Given the description of an element on the screen output the (x, y) to click on. 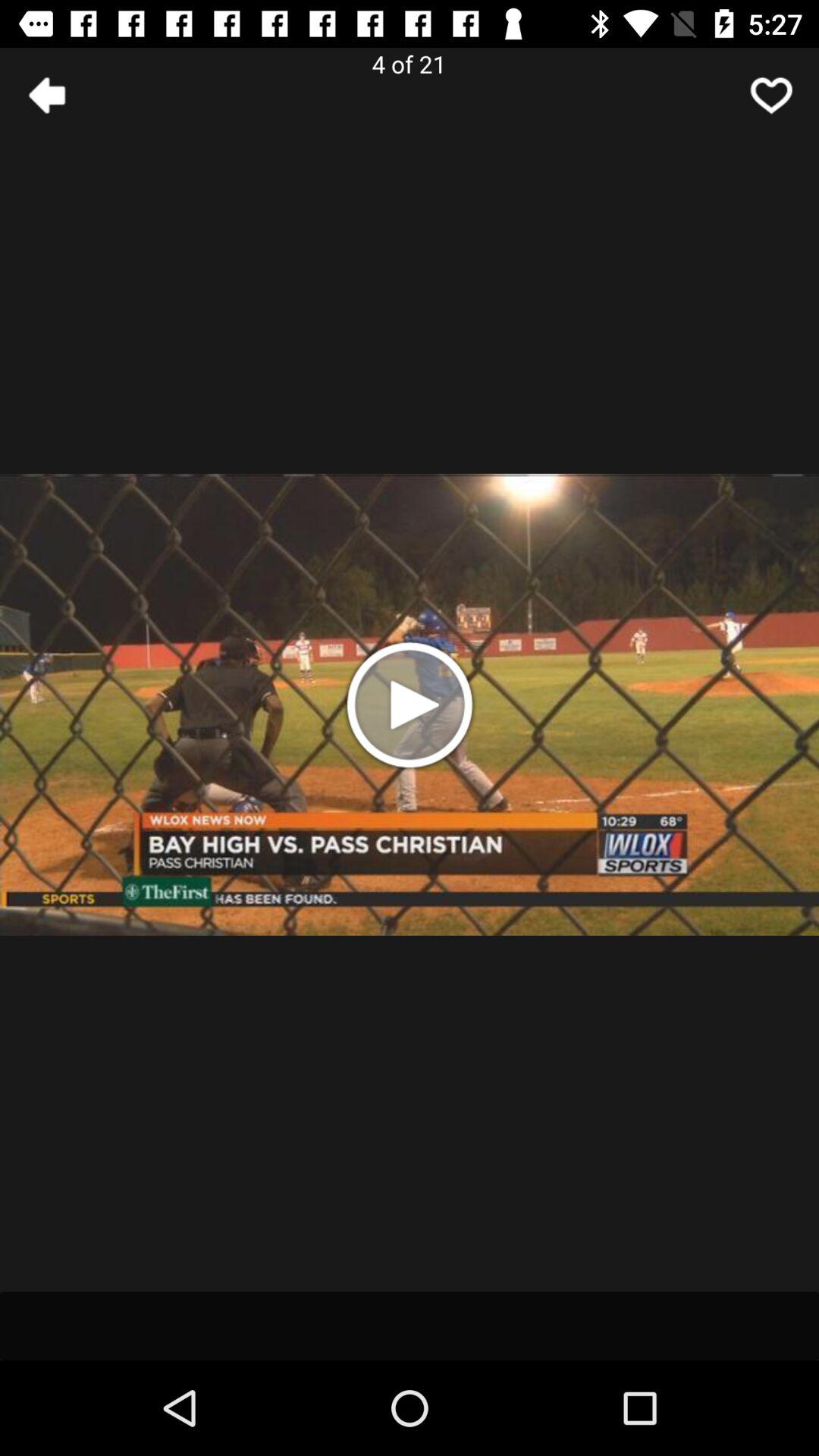
go to previous page (47, 95)
